Given the description of an element on the screen output the (x, y) to click on. 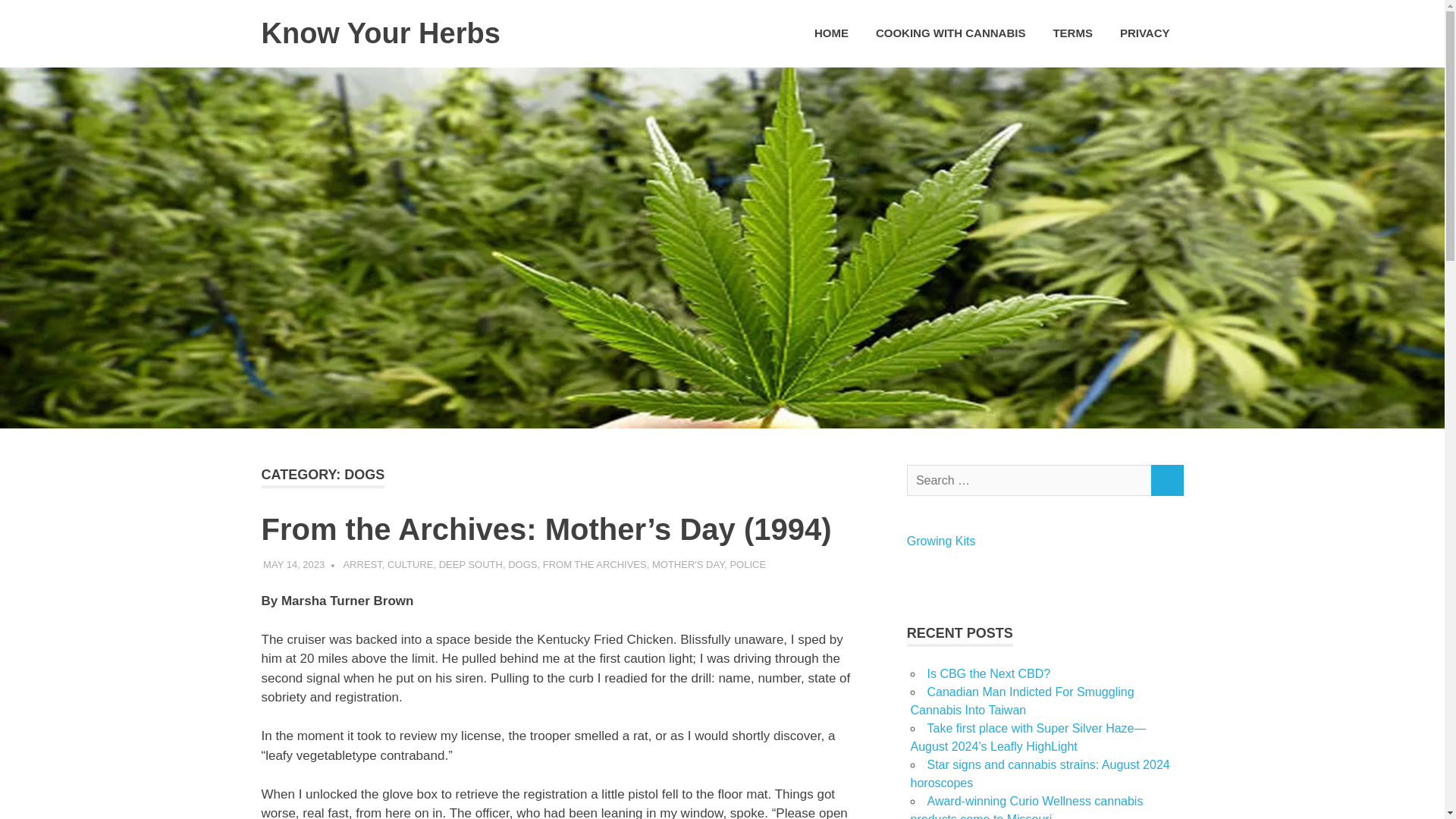
Canadian Man Indicted For Smuggling Cannabis Into Taiwan (1022, 700)
PRIVACY (1144, 33)
5:00 am (293, 564)
MAY 14, 2023 (293, 564)
Know Your Herbs (379, 33)
COOKING WITH CANNABIS (950, 33)
Star signs and cannabis strains: August 2024 horoscopes (1039, 773)
ARREST (361, 564)
TERMS (1072, 33)
